Given the description of an element on the screen output the (x, y) to click on. 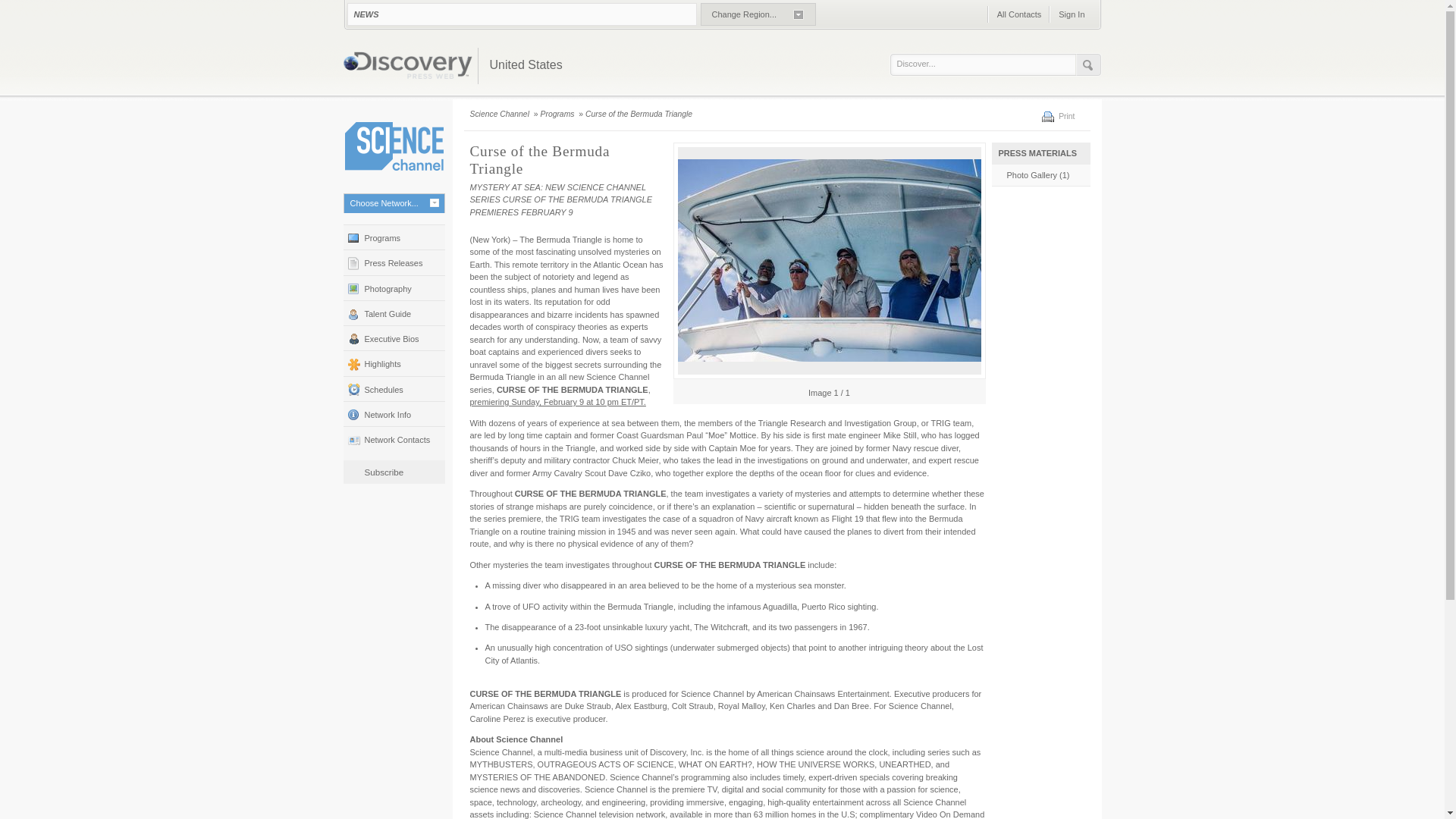
Discovery Press Web (406, 66)
Network Info (393, 413)
Executive Bios (393, 337)
Discover... (985, 63)
Programs (558, 113)
All Contacts (1018, 13)
Photography (393, 287)
Previous (680, 391)
Network Contacts (393, 438)
Subscribe (383, 471)
Schedules (393, 388)
Science Channel (393, 146)
Search (1087, 64)
Sign In (1070, 13)
Press Releases (393, 261)
